Given the description of an element on the screen output the (x, y) to click on. 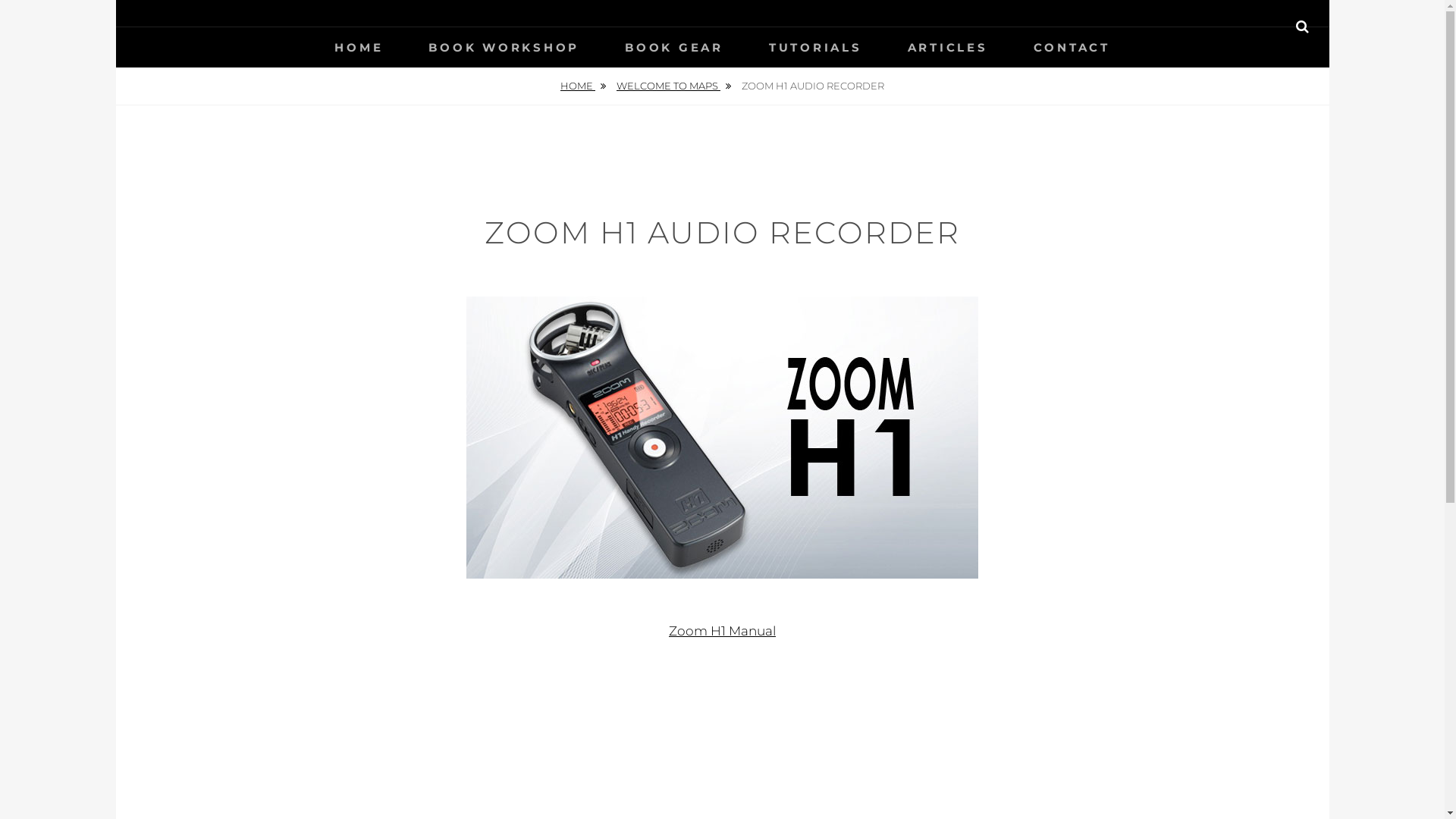
BOOK GEAR Element type: text (673, 47)
WELCOME TO MAPS Element type: text (673, 85)
Zoom H1 Manual Element type: text (721, 630)
BOOK WORKSHOP Element type: text (503, 47)
TUTORIALS Element type: text (815, 47)
SEARCH Element type: text (1302, 26)
HOME Element type: text (583, 85)
HOME Element type: text (358, 47)
CONTACT Element type: text (1070, 47)
ARTICLES Element type: text (946, 47)
